Given the description of an element on the screen output the (x, y) to click on. 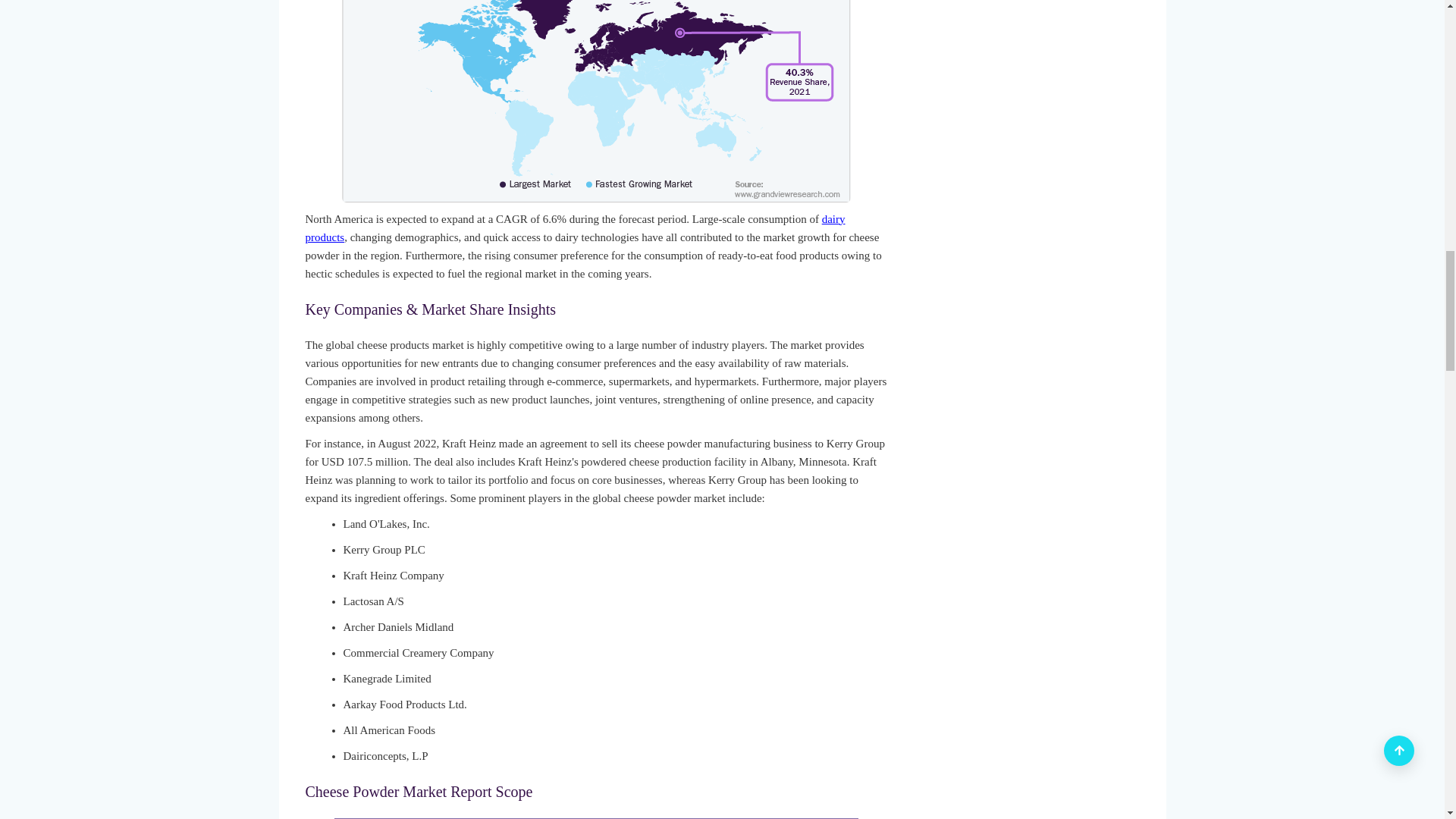
Cheese Powder Market Trends by Region (596, 101)
